Given the description of an element on the screen output the (x, y) to click on. 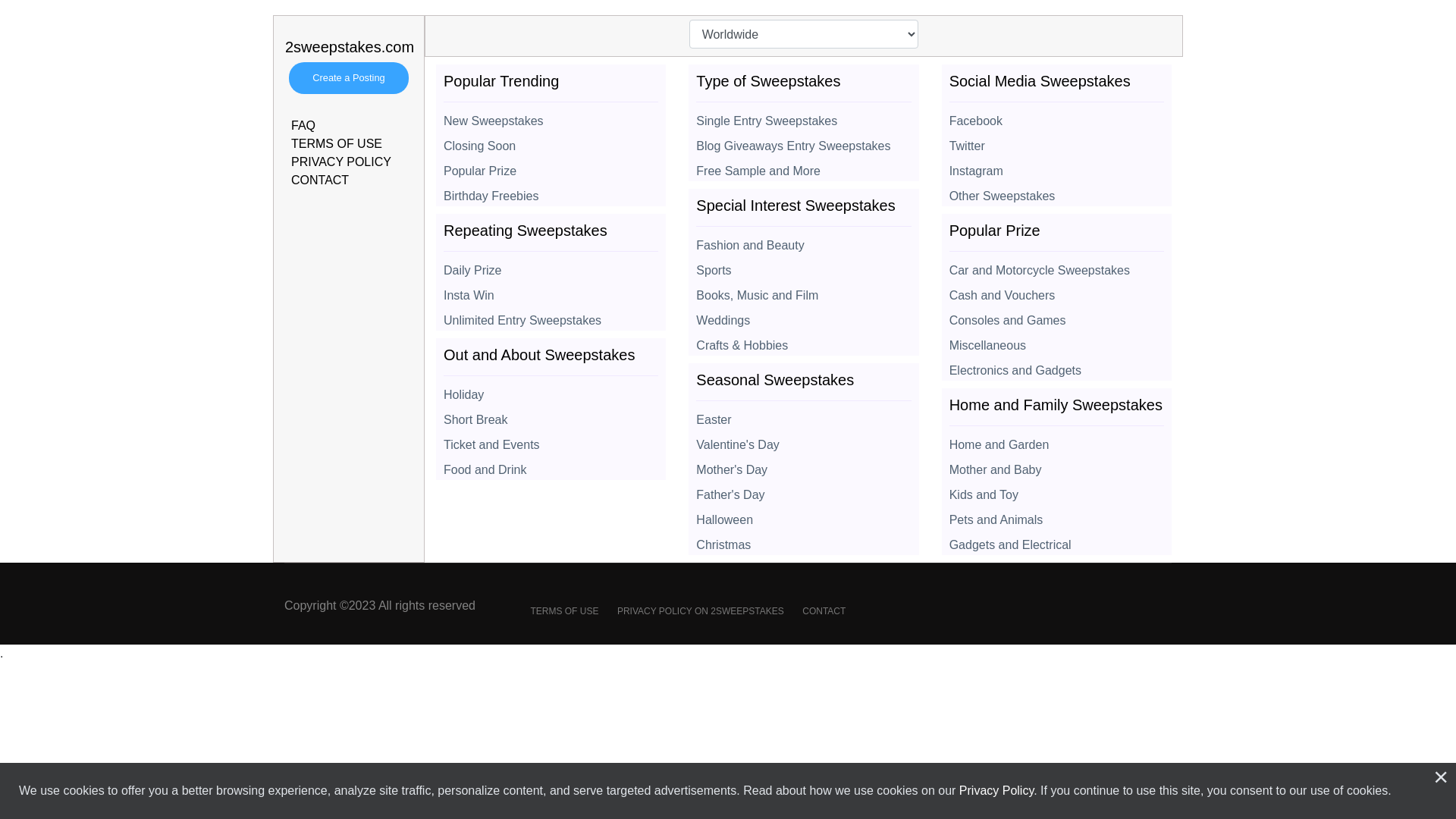
Twitter Element type: text (1056, 141)
Sports Element type: text (803, 266)
PRIVACY POLICY ON 2SWEEPSTAKES Element type: text (700, 610)
Free Sample and More Element type: text (803, 166)
TERMS OF USE Element type: text (564, 610)
Fashion and Beauty Element type: text (803, 240)
Father's Day Element type: text (803, 490)
Closing Soon Element type: text (550, 141)
Valentine's Day Element type: text (803, 440)
Halloween Element type: text (803, 515)
Cash and Vouchers Element type: text (1056, 291)
Weddings Element type: text (803, 316)
Home and Garden Element type: text (1056, 440)
PRIVACY POLICY Element type: text (341, 161)
Other Sweepstakes Element type: text (1056, 191)
2sweepstakes.com Element type: text (348, 60)
Kids and Toy Element type: text (1056, 490)
Books, Music and Film Element type: text (803, 291)
Miscellaneous Element type: text (1056, 341)
Crafts & Hobbies Element type: text (803, 341)
Food and Drink Element type: text (550, 465)
Daily Prize Element type: text (550, 266)
Mother's Day Element type: text (803, 465)
Blog Giveaways Entry Sweepstakes Element type: text (803, 141)
Insta Win Element type: text (550, 291)
Gadgets and Electrical Element type: text (1056, 540)
Single Entry Sweepstakes Element type: text (803, 116)
Create a Posting Element type: text (347, 78)
TERMS OF USE Element type: text (336, 143)
Short Break Element type: text (550, 415)
Birthday Freebies Element type: text (550, 191)
Facebook Element type: text (1056, 116)
CONTACT Element type: text (823, 610)
Electronics and Gadgets Element type: text (1056, 366)
New Sweepstakes Element type: text (550, 116)
CONTACT Element type: text (319, 179)
Consoles and Games Element type: text (1056, 316)
Mother and Baby Element type: text (1056, 465)
Car and Motorcycle Sweepstakes Element type: text (1056, 266)
Privacy Policy Element type: text (996, 790)
Easter Element type: text (803, 415)
Popular Prize Element type: text (550, 166)
Pets and Animals Element type: text (1056, 515)
FAQ Element type: text (303, 125)
Instagram Element type: text (1056, 166)
Ticket and Events Element type: text (550, 440)
Unlimited Entry Sweepstakes Element type: text (550, 316)
Christmas Element type: text (803, 540)
Holiday Element type: text (550, 390)
